Given the description of an element on the screen output the (x, y) to click on. 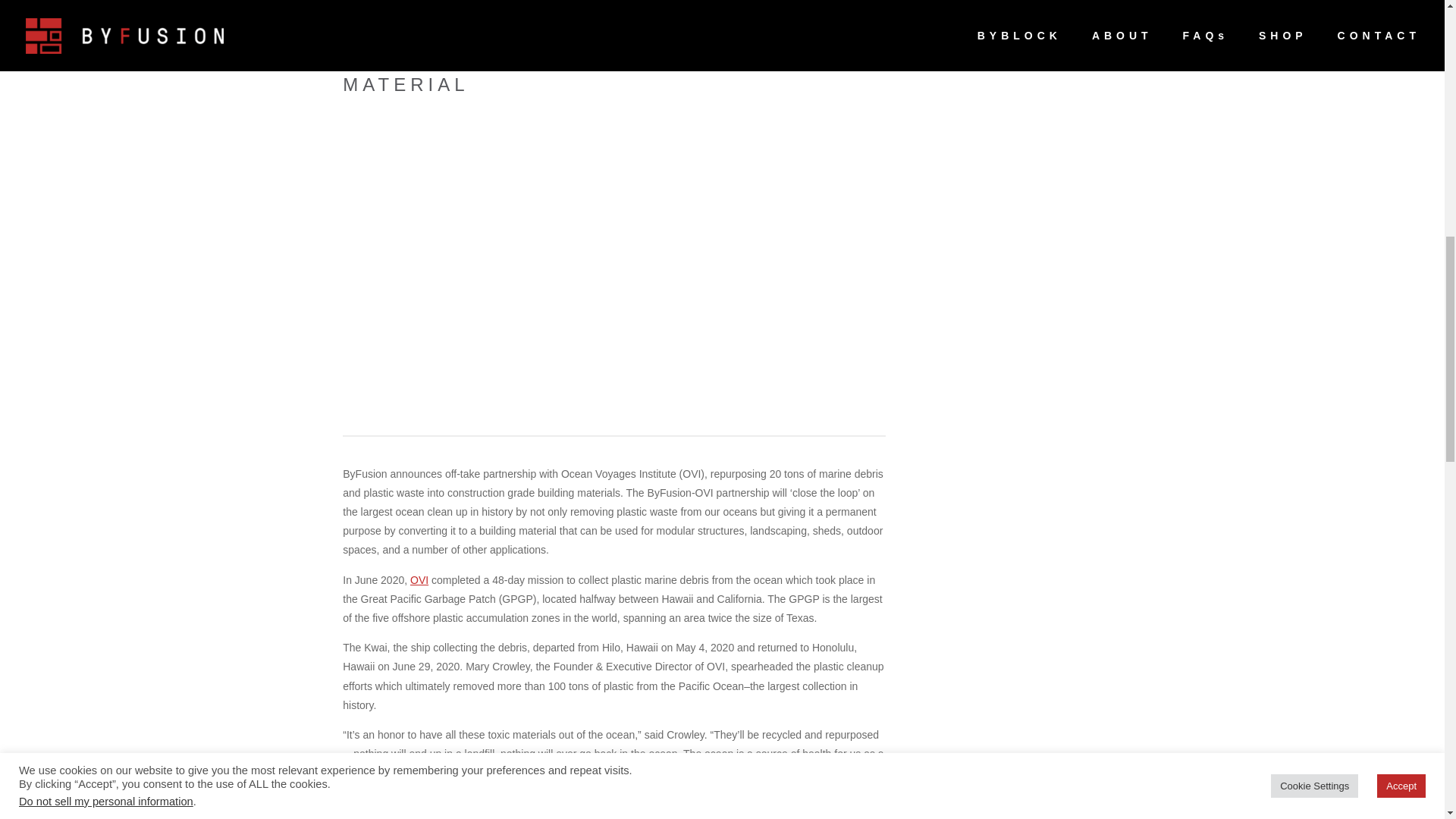
blocks (357, 817)
OVI (419, 580)
